Given the description of an element on the screen output the (x, y) to click on. 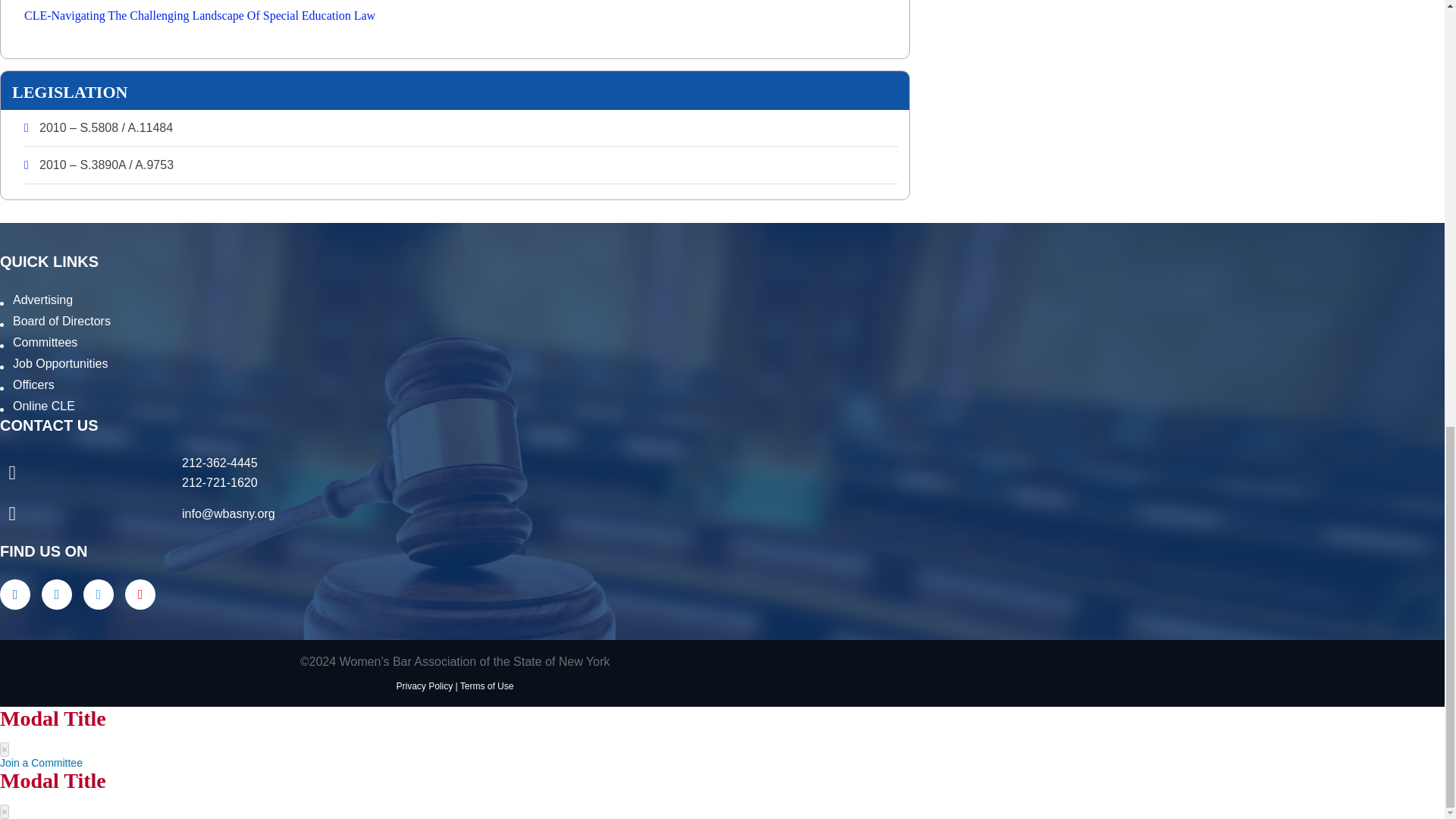
PRIVACY POLICY (424, 685)
TERMS OF USE (486, 685)
